Given the description of an element on the screen output the (x, y) to click on. 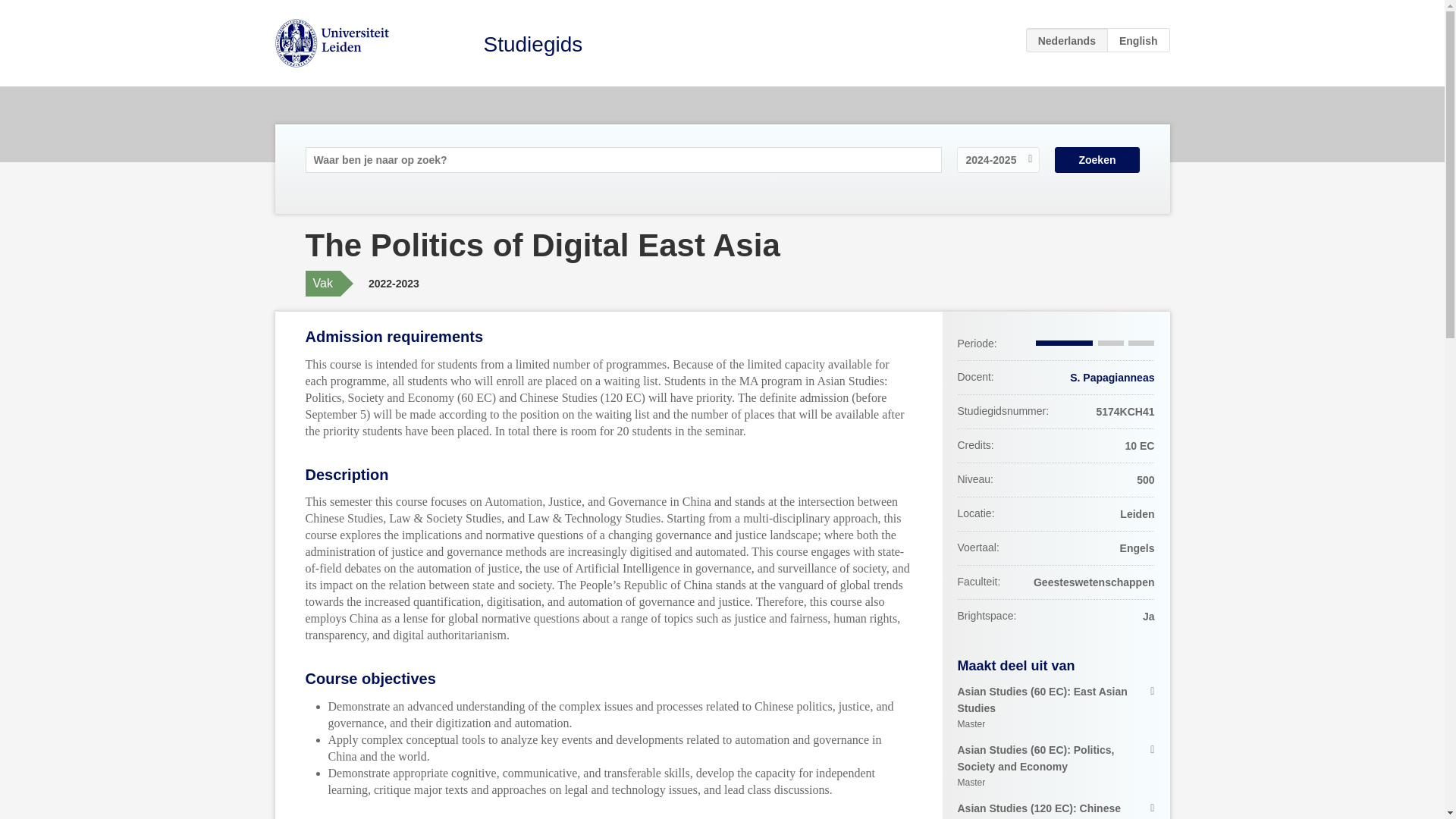
Zoeken (1096, 159)
EN (1138, 39)
S. Papagianneas (1112, 377)
Studiegids (533, 44)
